Given the description of an element on the screen output the (x, y) to click on. 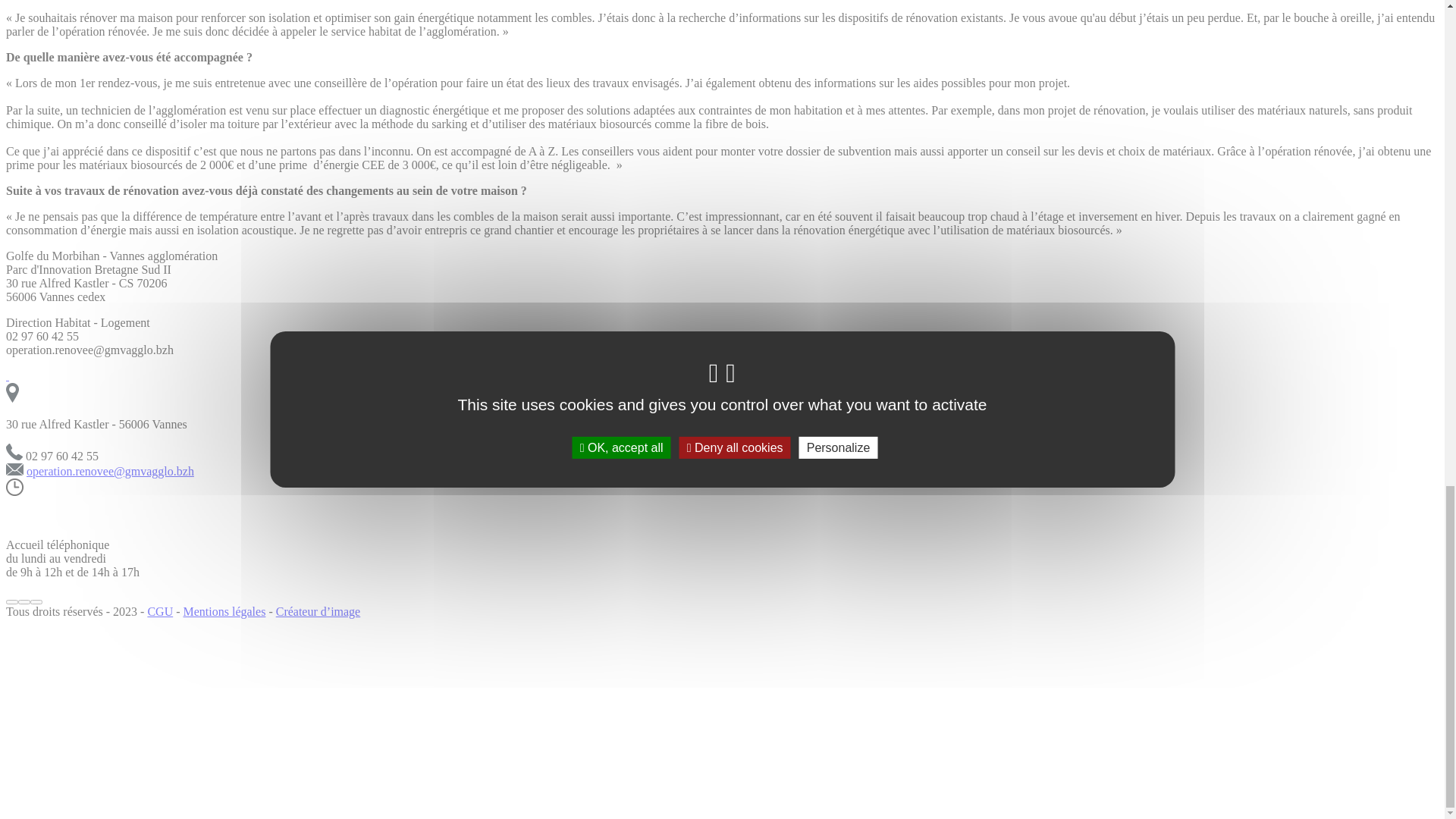
+A Element type: text (38, 402)
-A Element type: text (11, 402)
Adaptation Element type: text (63, 51)
A Element type: text (23, 402)
Professionnels Element type: text (71, 65)
Mon espace Element type: text (65, 78)
Accueil Element type: text (55, 360)
